Given the description of an element on the screen output the (x, y) to click on. 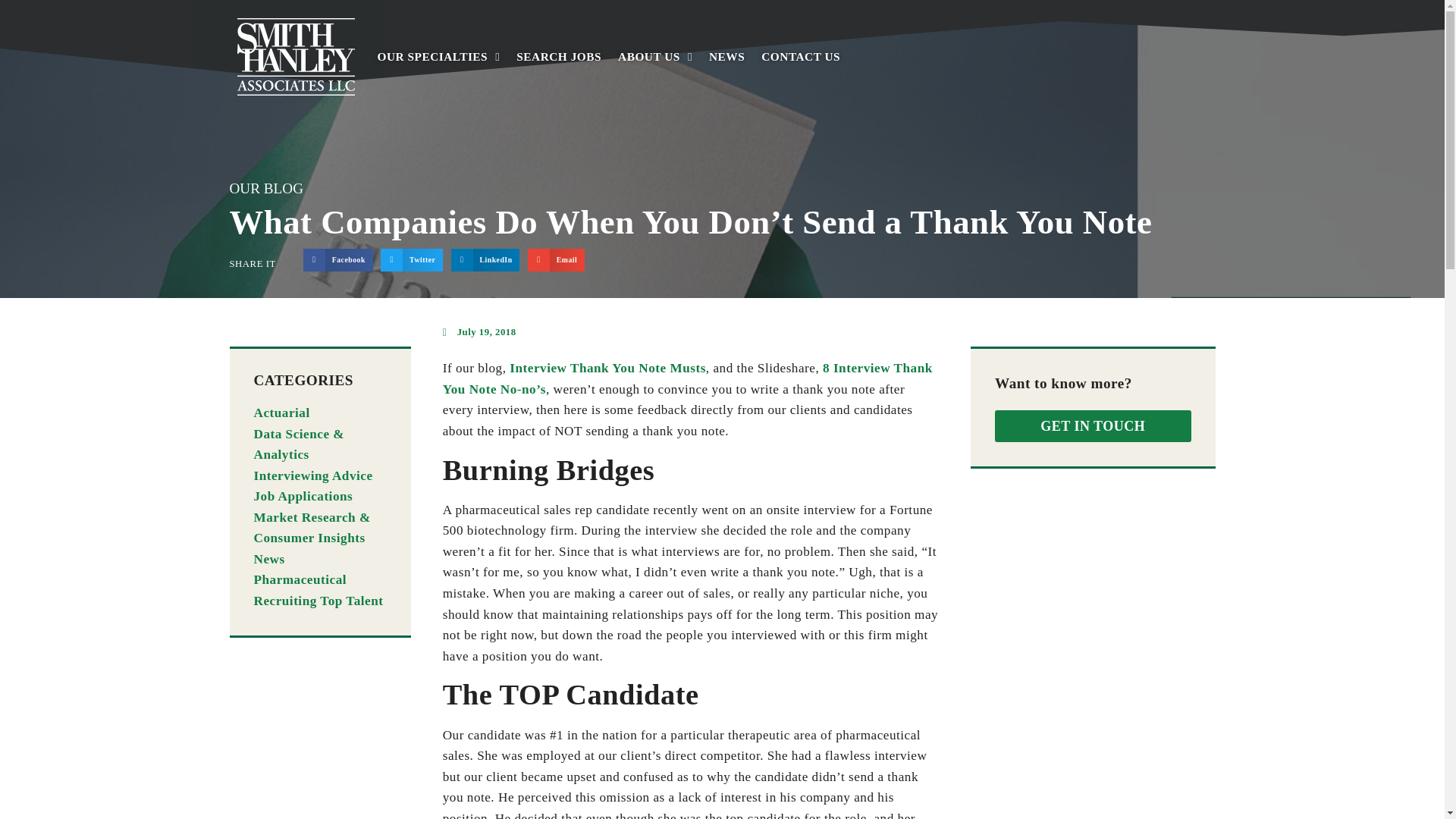
ABOUT US (655, 30)
SEARCH JOBS (558, 23)
CONTACT US (800, 41)
NEWS (726, 39)
